Given the description of an element on the screen output the (x, y) to click on. 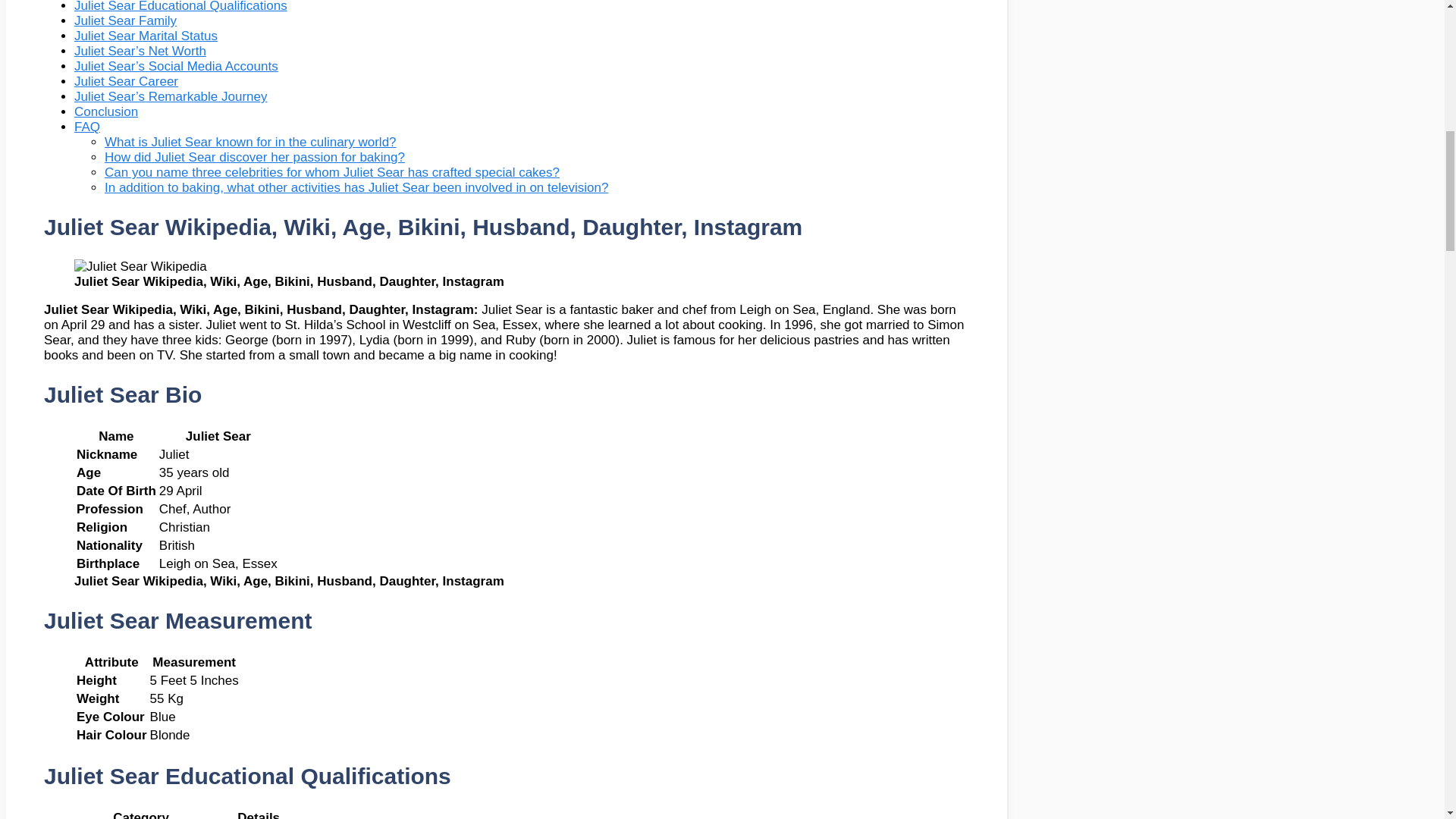
Juliet Sear Family (125, 20)
Juliet Sear Marital Status (145, 35)
How did Juliet Sear discover her passion for baking? (254, 156)
Juliet Sear Educational Qualifications (180, 6)
Conclusion (106, 111)
Juliet Sear Career (125, 81)
FAQ (87, 126)
What is Juliet Sear known for in the culinary world? (250, 142)
